Given the description of an element on the screen output the (x, y) to click on. 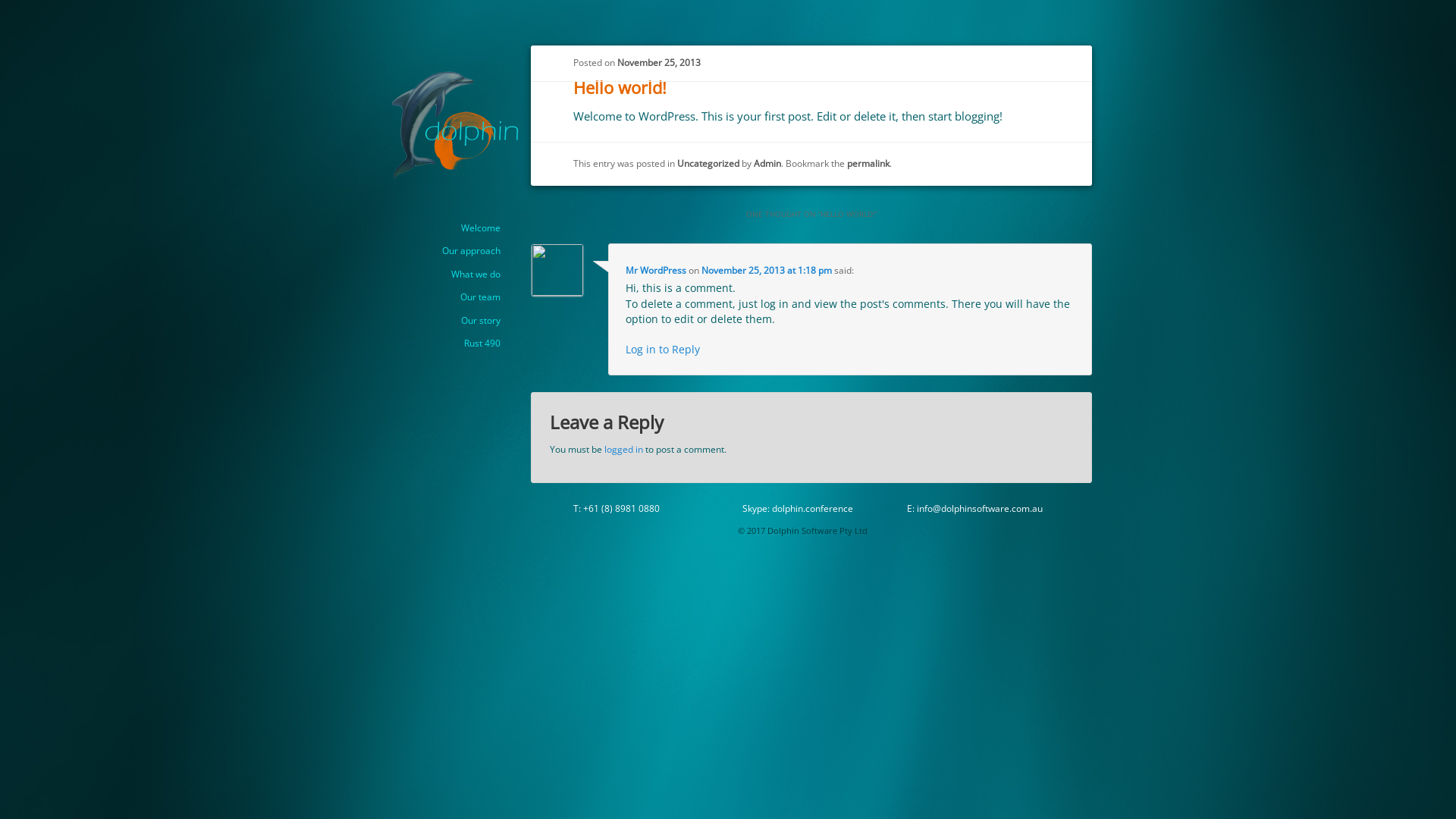
Our story Element type: text (480, 319)
Our approach Element type: text (471, 249)
logged in Element type: text (623, 448)
Welcome Element type: text (480, 227)
Our team Element type: text (480, 296)
Admin Element type: text (767, 162)
What we do Element type: text (475, 273)
November 25, 2013 at 1:18 pm Element type: text (766, 269)
Uncategorized Element type: text (708, 162)
November 25, 2013 Element type: text (658, 62)
Dolphin Element type: text (439, 84)
E: info@dolphinsoftware.com.au Element type: text (974, 508)
Log in to Reply Element type: text (662, 349)
permalink Element type: text (868, 162)
Rust 490 Element type: text (482, 342)
Skip to primary content Element type: text (500, 216)
Mr WordPress Element type: text (655, 269)
